Given the description of an element on the screen output the (x, y) to click on. 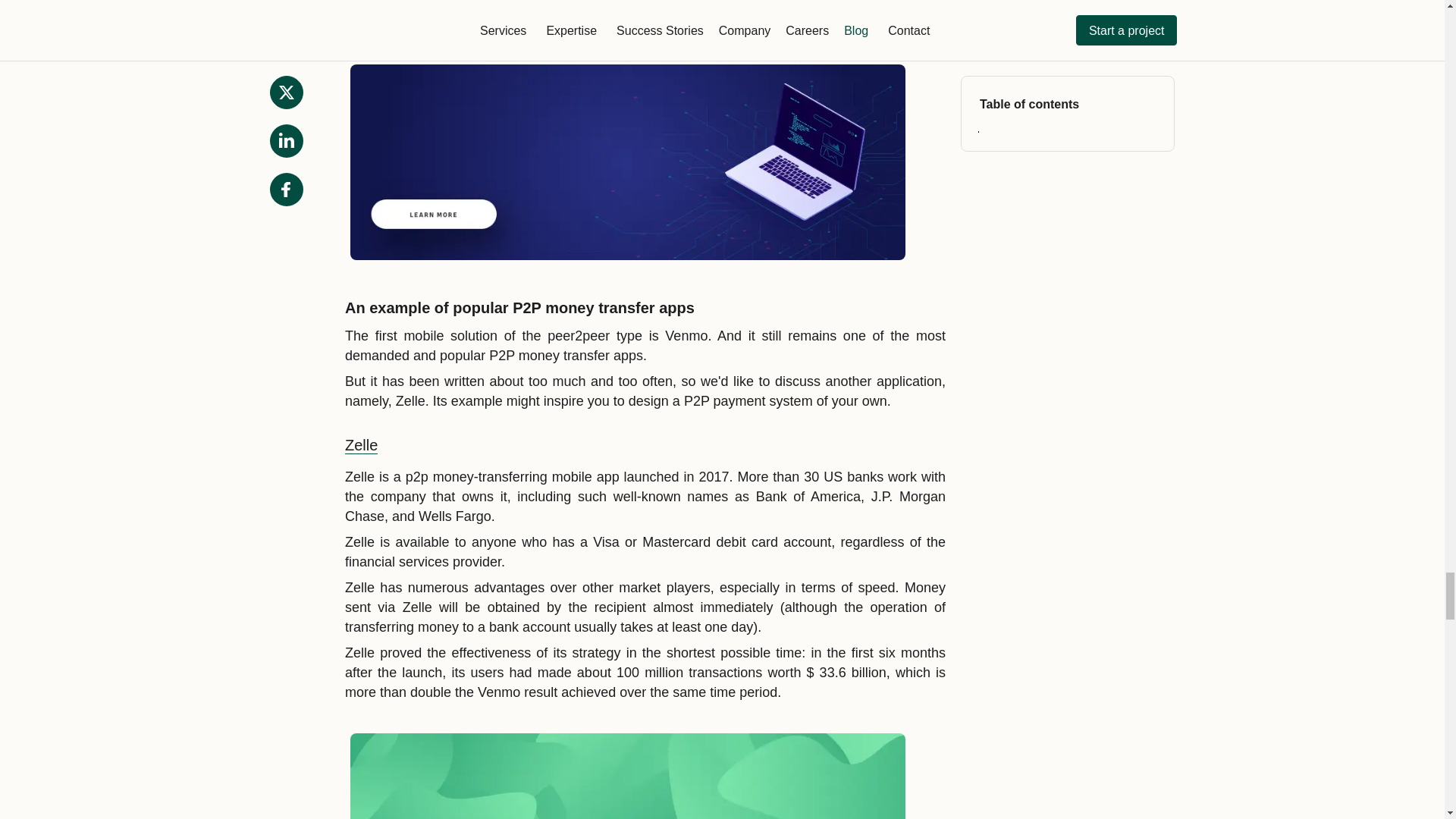
Zelle (361, 445)
